Given the description of an element on the screen output the (x, y) to click on. 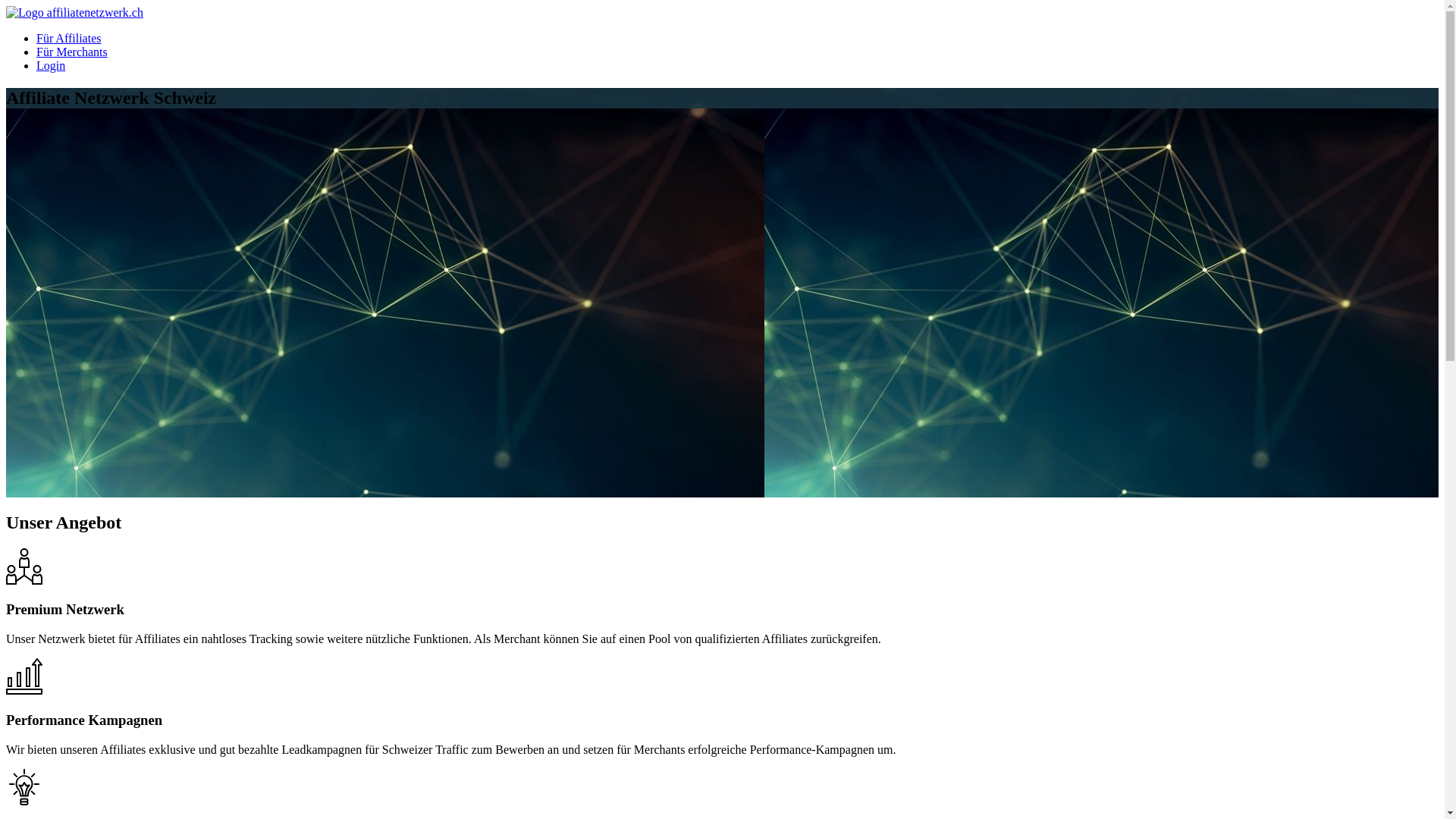
Login Element type: text (50, 65)
